Given the description of an element on the screen output the (x, y) to click on. 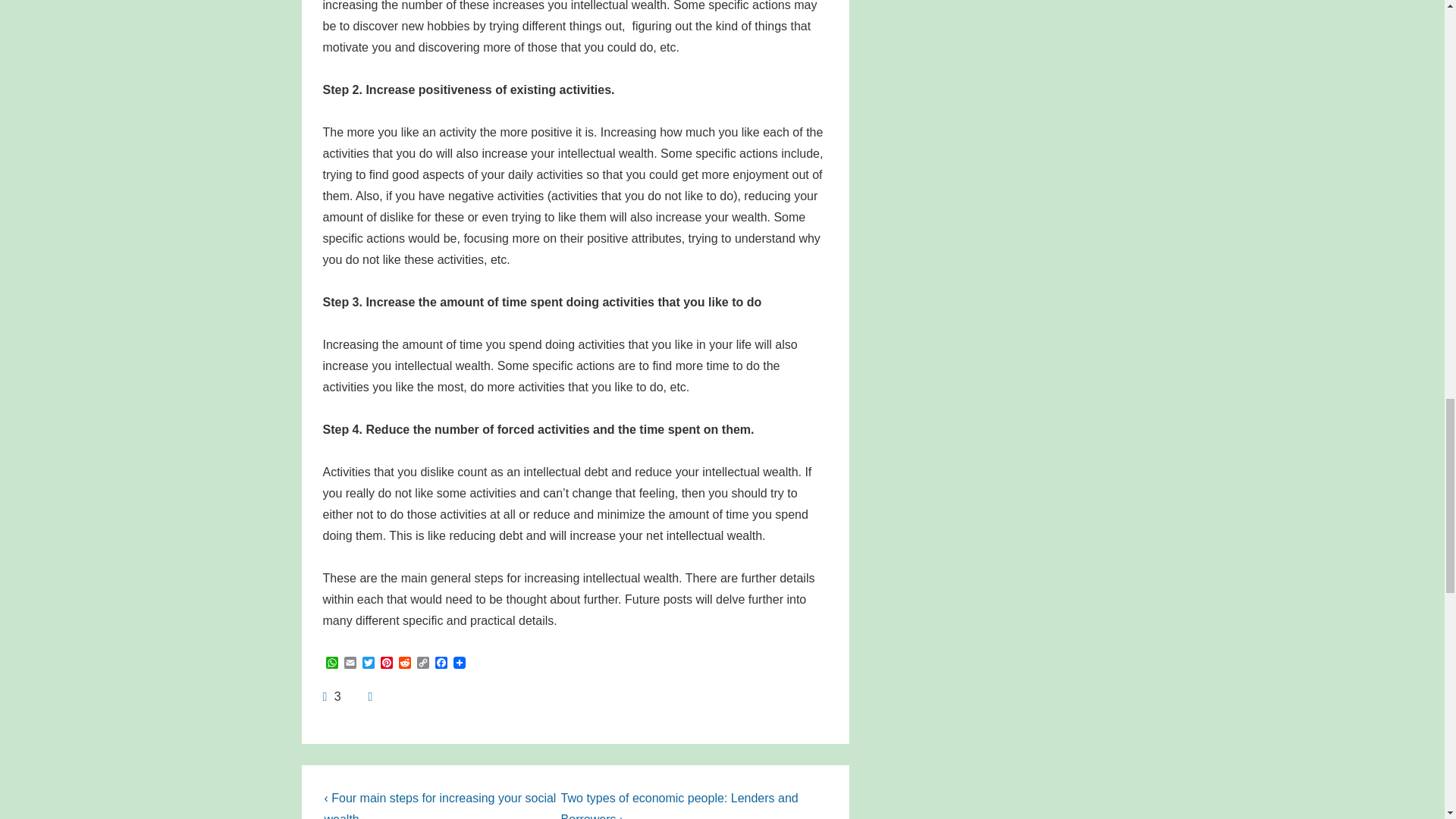
Twitter (368, 663)
Facebook (440, 663)
Pinterest (386, 663)
WhatsApp (331, 663)
WhatsApp (331, 663)
Copy Link (422, 663)
Email (349, 663)
Twitter (368, 663)
Copy Link (422, 663)
Pinterest (386, 663)
